Given the description of an element on the screen output the (x, y) to click on. 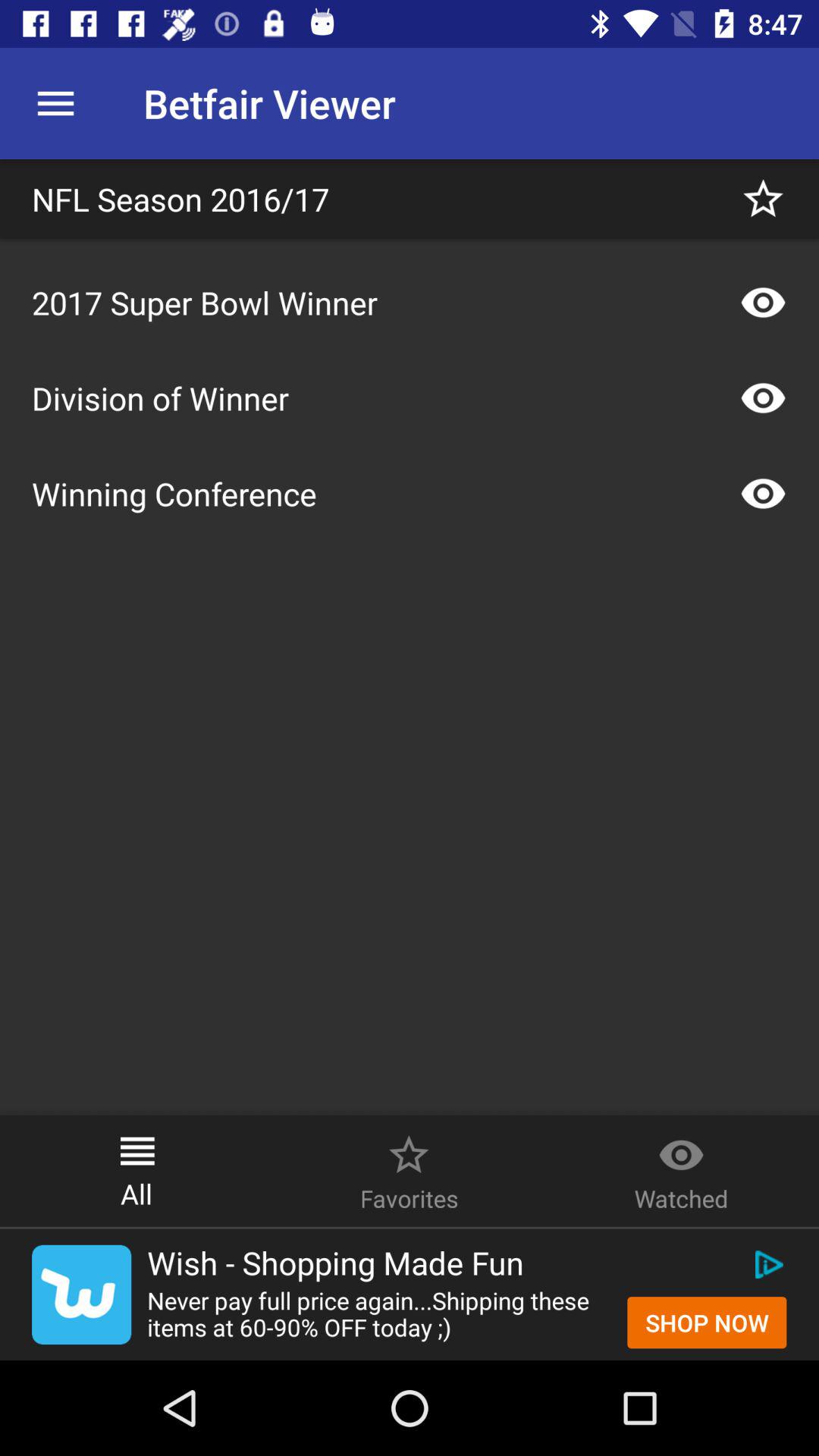
to favorite (763, 198)
